Given the description of an element on the screen output the (x, y) to click on. 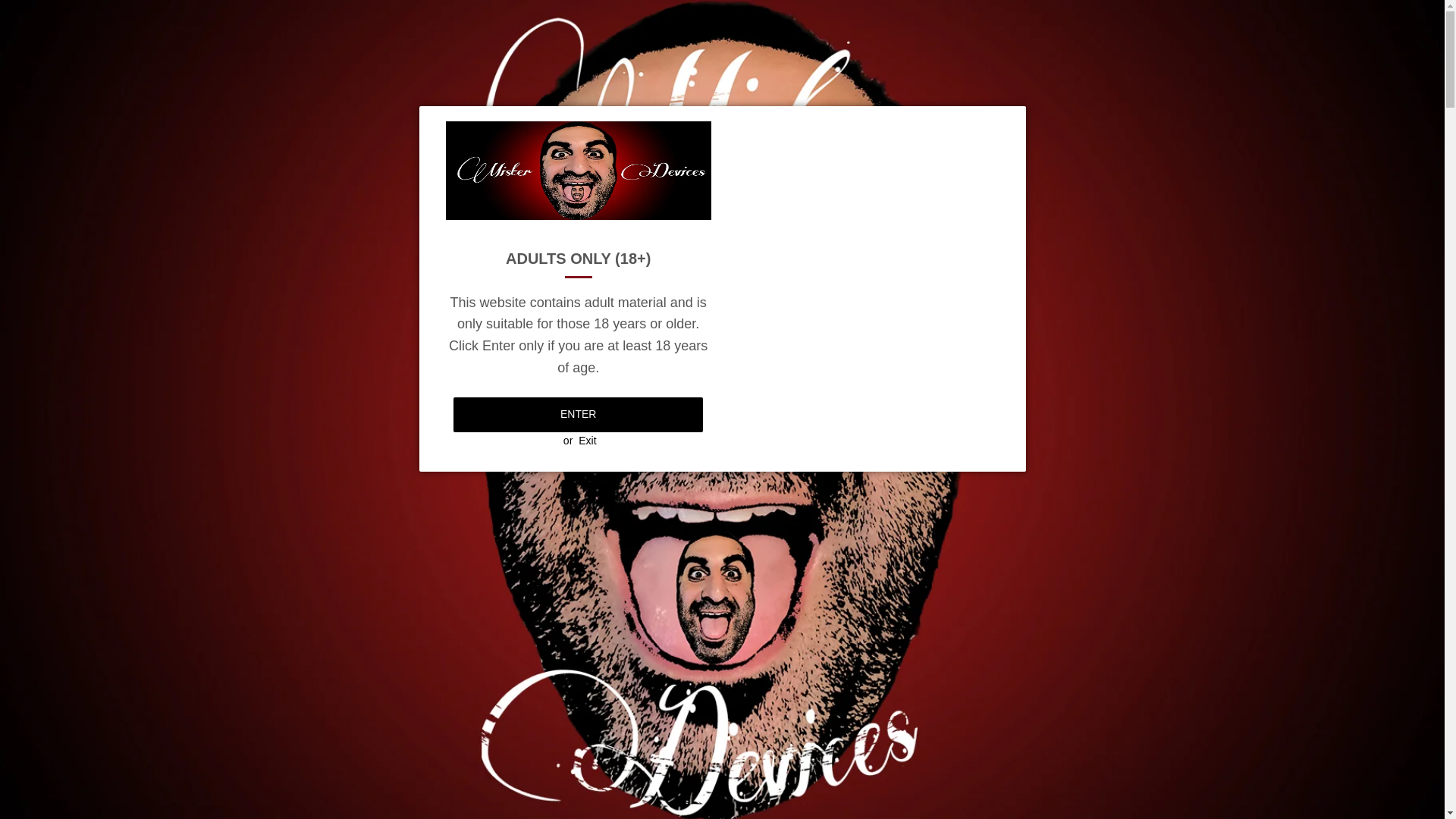
4 Element type: text (744, 794)
ACCESSORIES Element type: text (873, 213)
Create an Account Element type: text (1143, 89)
Sign in Element type: text (1068, 89)
JUICE Element type: text (583, 213)
Follow on Facebook Element type: hover (15, 375)
DEVICES Element type: text (361, 213)
Search Element type: text (1066, 123)
DRY HERB Element type: text (441, 213)
ENTER Element type: text (577, 414)
2 Element type: text (713, 794)
Powered By Improved Contact Form Element type: hover (15, 442)
WICKS, BATTERIES & CHARGERS Element type: text (715, 213)
1 Element type: text (698, 794)
HOME Element type: text (290, 213)
CART Element type: text (1140, 122)
3 Element type: text (729, 794)
Exit Element type: text (587, 440)
Follow on Instagram Element type: hover (15, 409)
COILS Element type: text (516, 213)
CLEARANCE DISCOUNT !!! Element type: text (1016, 213)
